Given the description of an element on the screen output the (x, y) to click on. 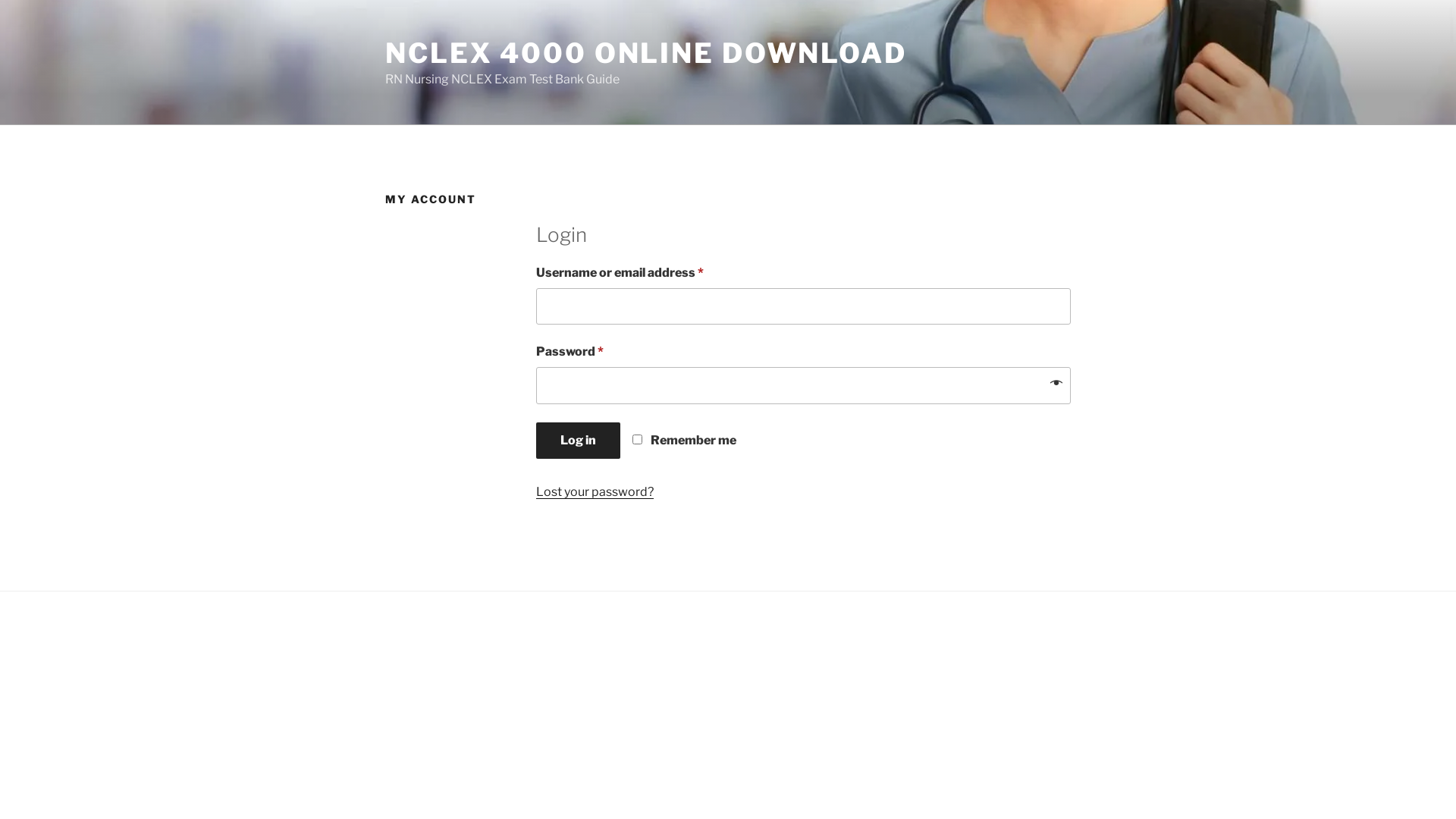
NCLEX 4000 ONLINE DOWNLOAD Element type: text (645, 52)
Log in Element type: text (578, 440)
Lost your password? Element type: text (594, 491)
